Given the description of an element on the screen output the (x, y) to click on. 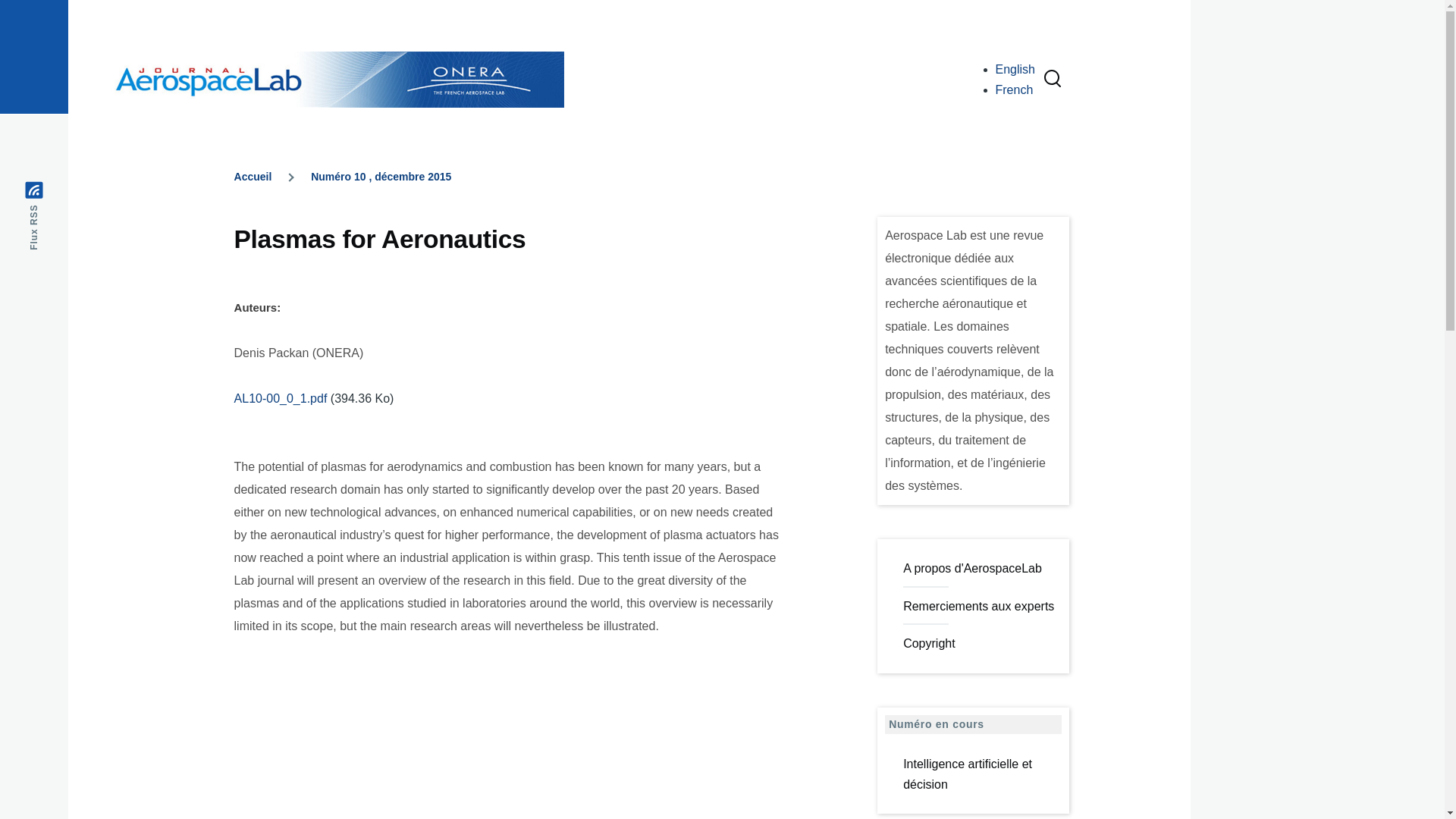
French (1014, 89)
Accueil (253, 176)
Remerciements aux experts (981, 605)
English (1015, 69)
A propos d'AerospaceLab (981, 568)
Flux RSS (58, 191)
Copyright (981, 643)
